Given the description of an element on the screen output the (x, y) to click on. 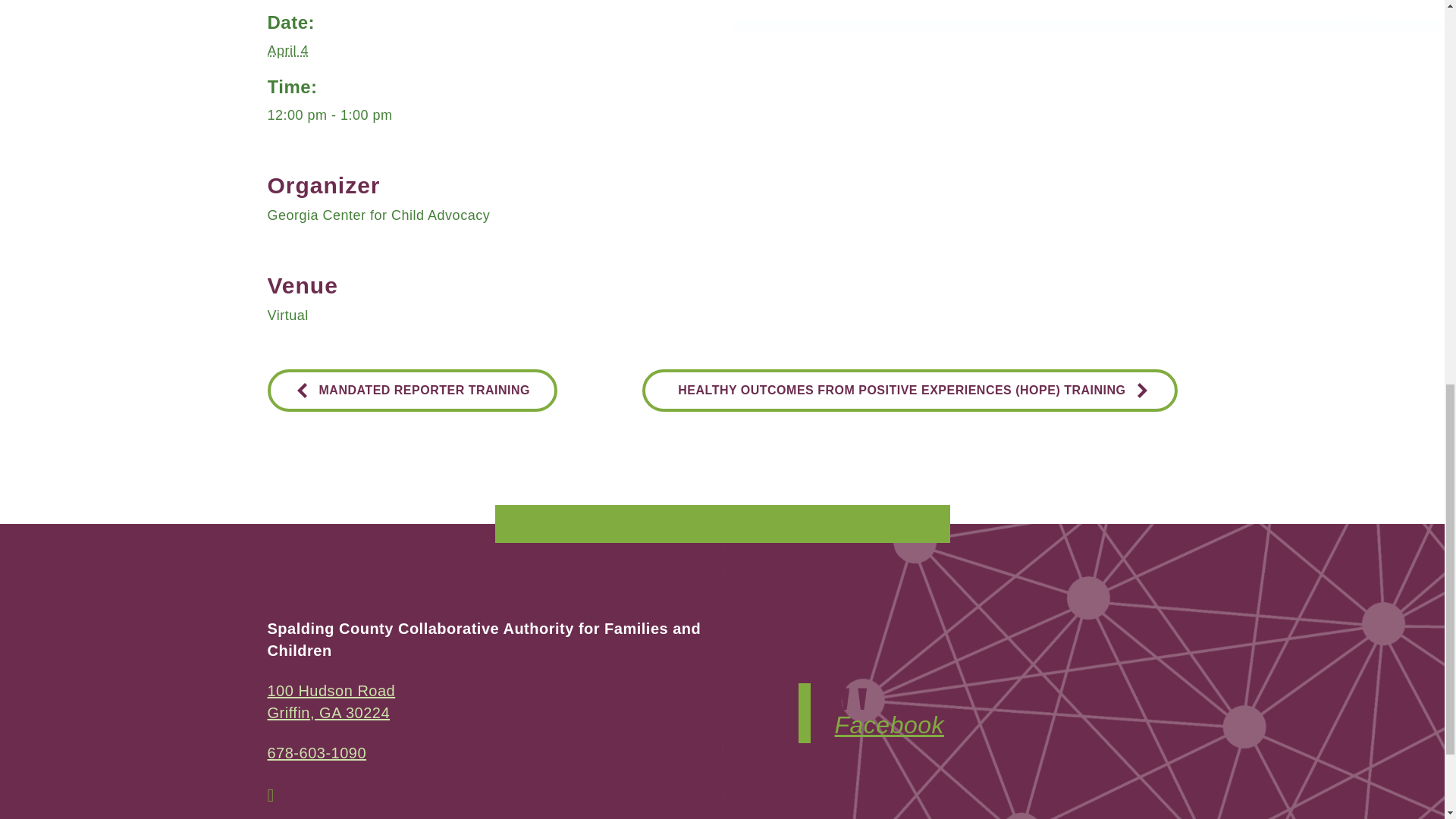
MANDATED REPORTER TRAINING (411, 390)
2024-04-04 (287, 50)
678-603-1090 (316, 752)
2024-04-04 (721, 115)
Facebook (888, 724)
